Given the description of an element on the screen output the (x, y) to click on. 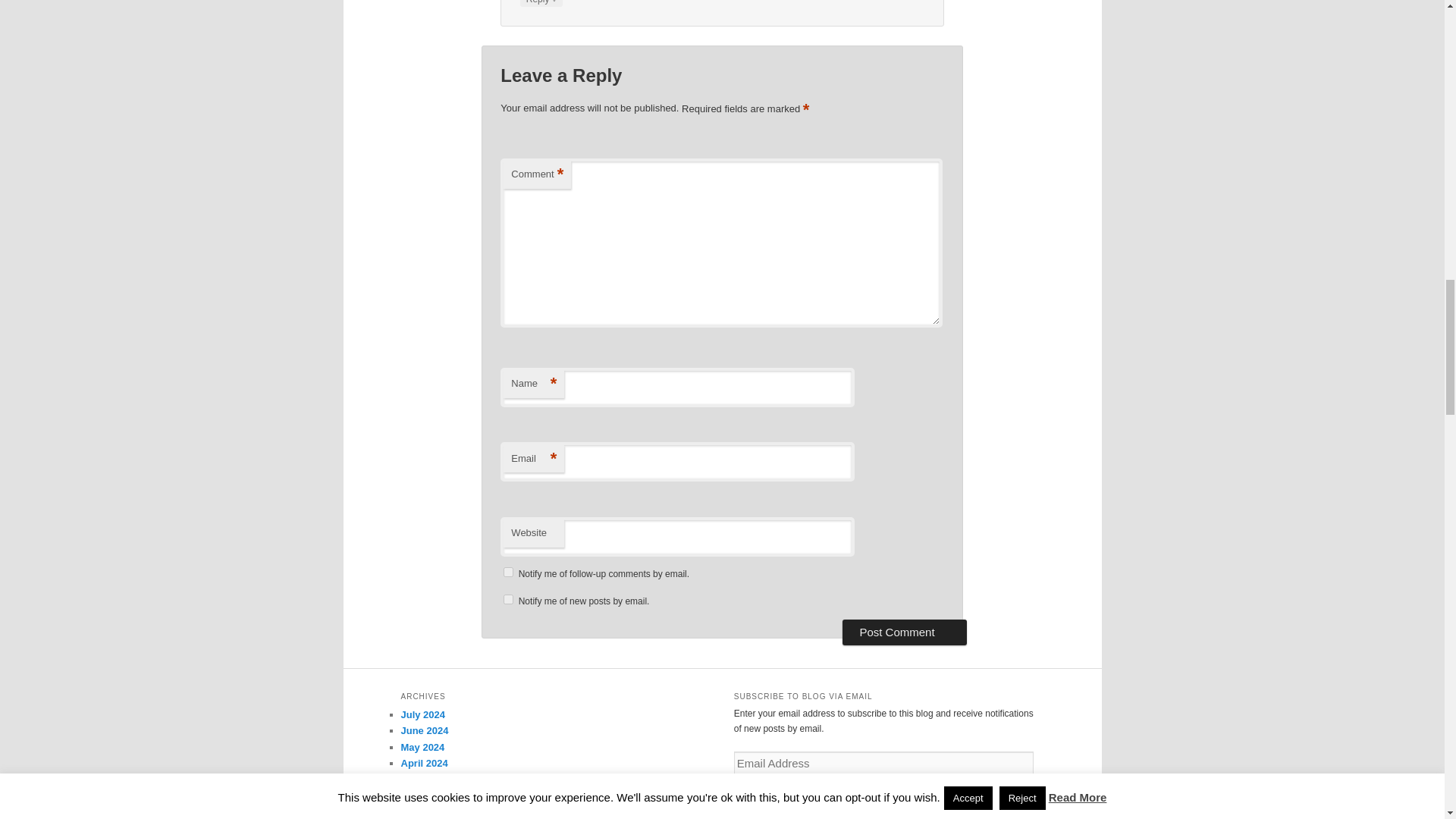
February 2024 (433, 794)
subscribe (508, 599)
subscribe (508, 572)
March 2024 (427, 778)
Post Comment (904, 632)
January 2024 (431, 810)
July 2024 (422, 714)
May 2024 (422, 747)
April 2024 (423, 763)
Post Comment (904, 632)
June 2024 (424, 730)
